Given the description of an element on the screen output the (x, y) to click on. 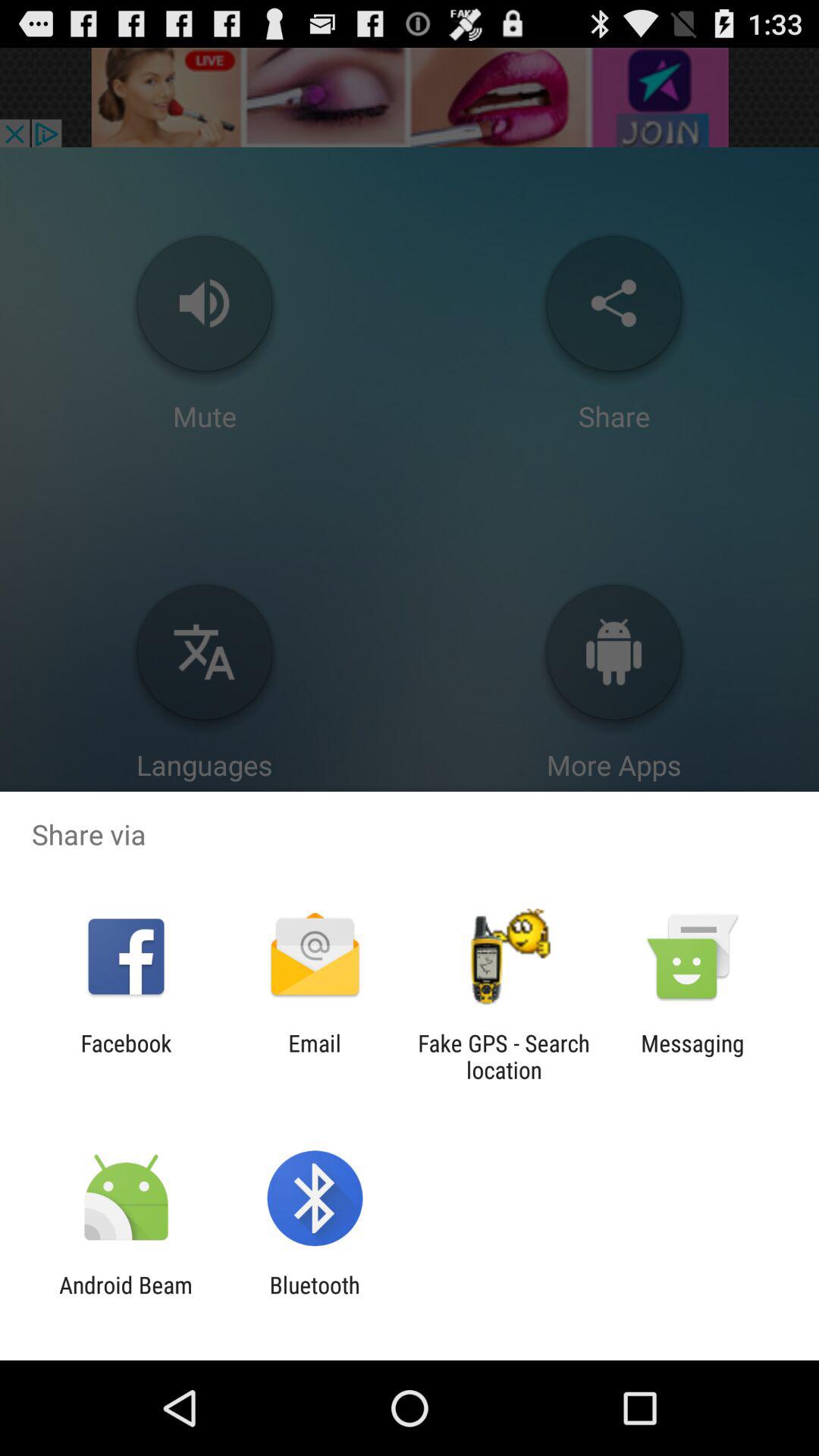
flip to the bluetooth item (314, 1298)
